Given the description of an element on the screen output the (x, y) to click on. 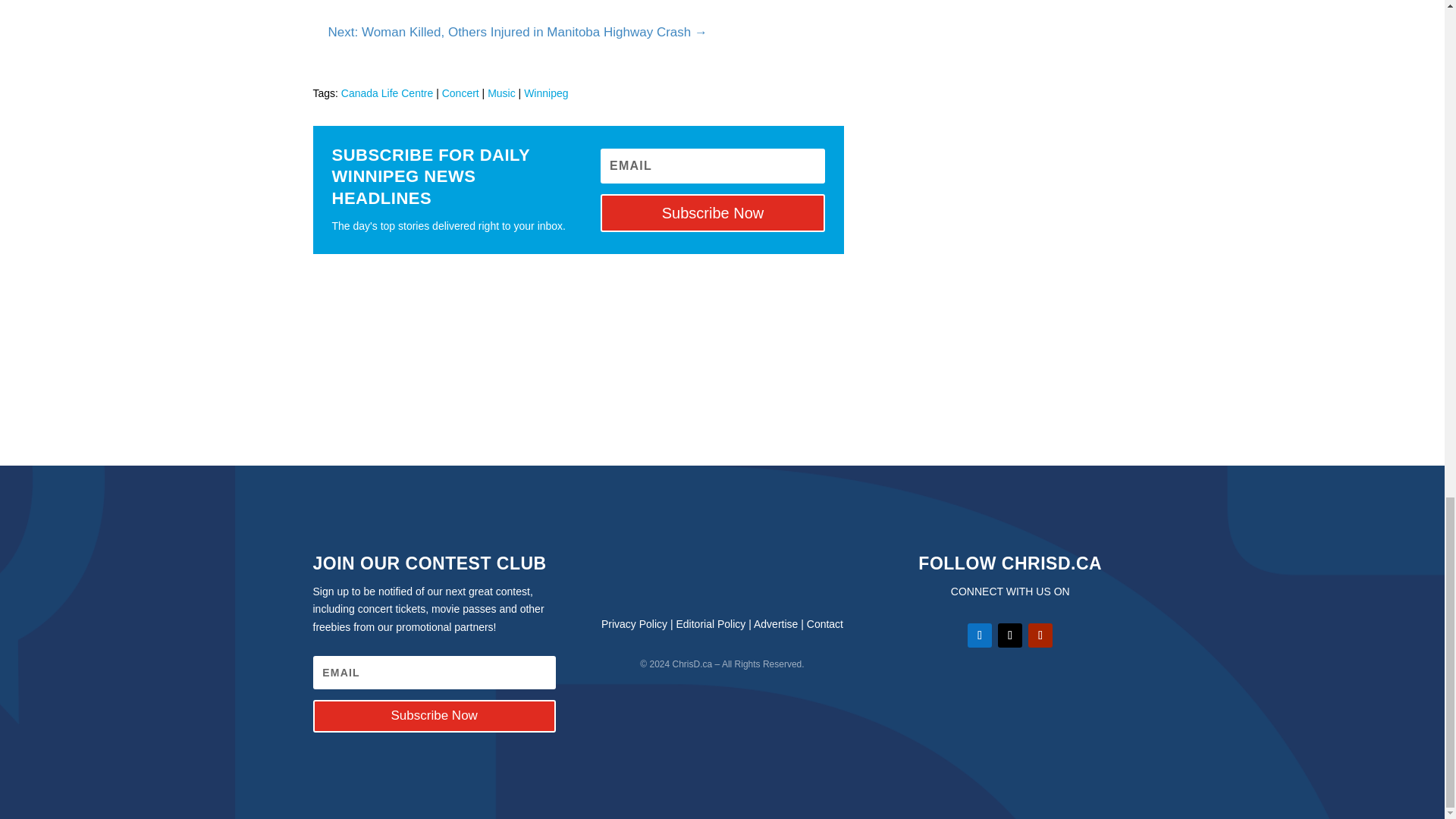
chrisd-logo-footer-300x92 (722, 572)
